Given the description of an element on the screen output the (x, y) to click on. 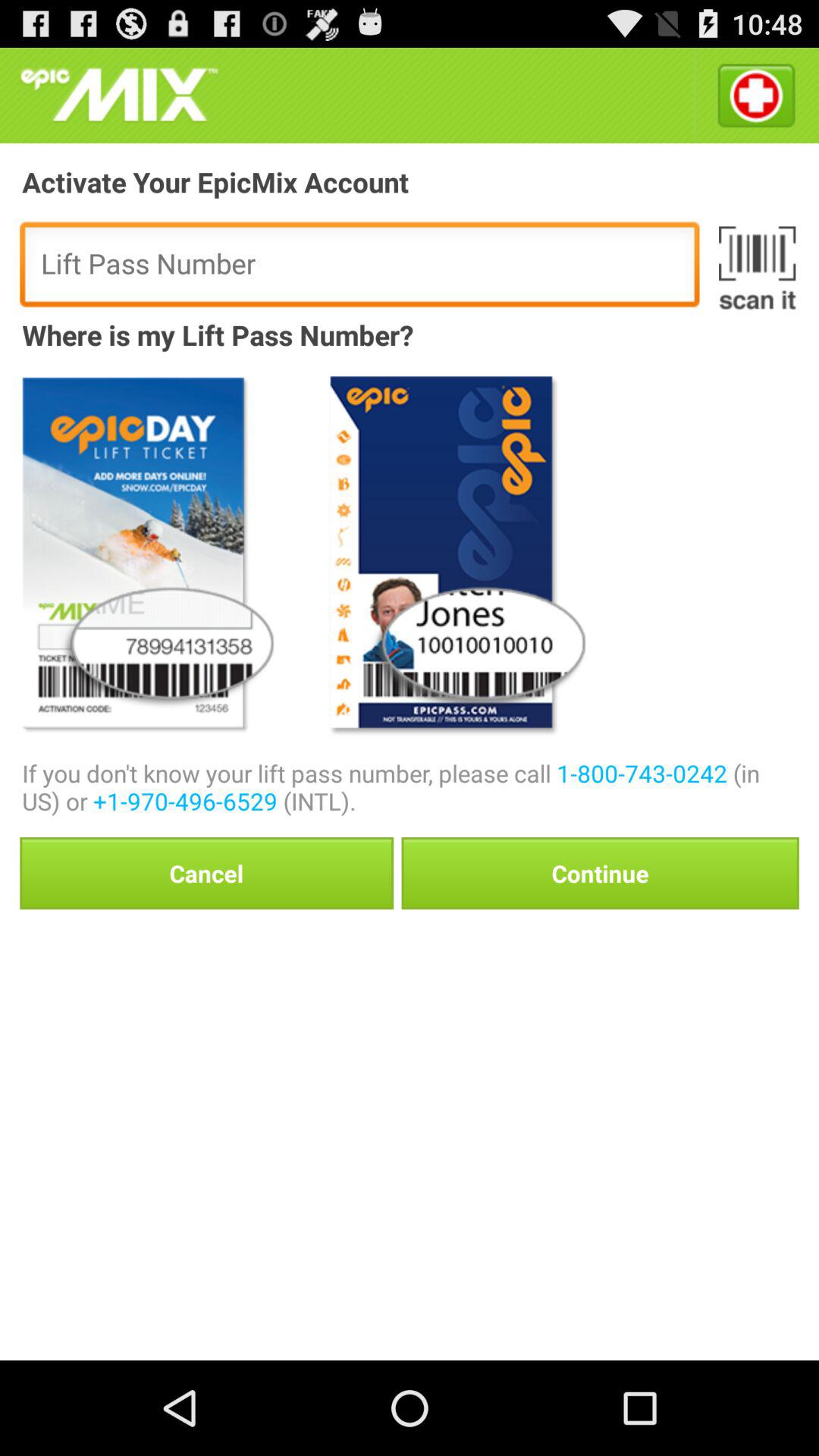
launch the icon above activate your epicmix item (755, 95)
